Given the description of an element on the screen output the (x, y) to click on. 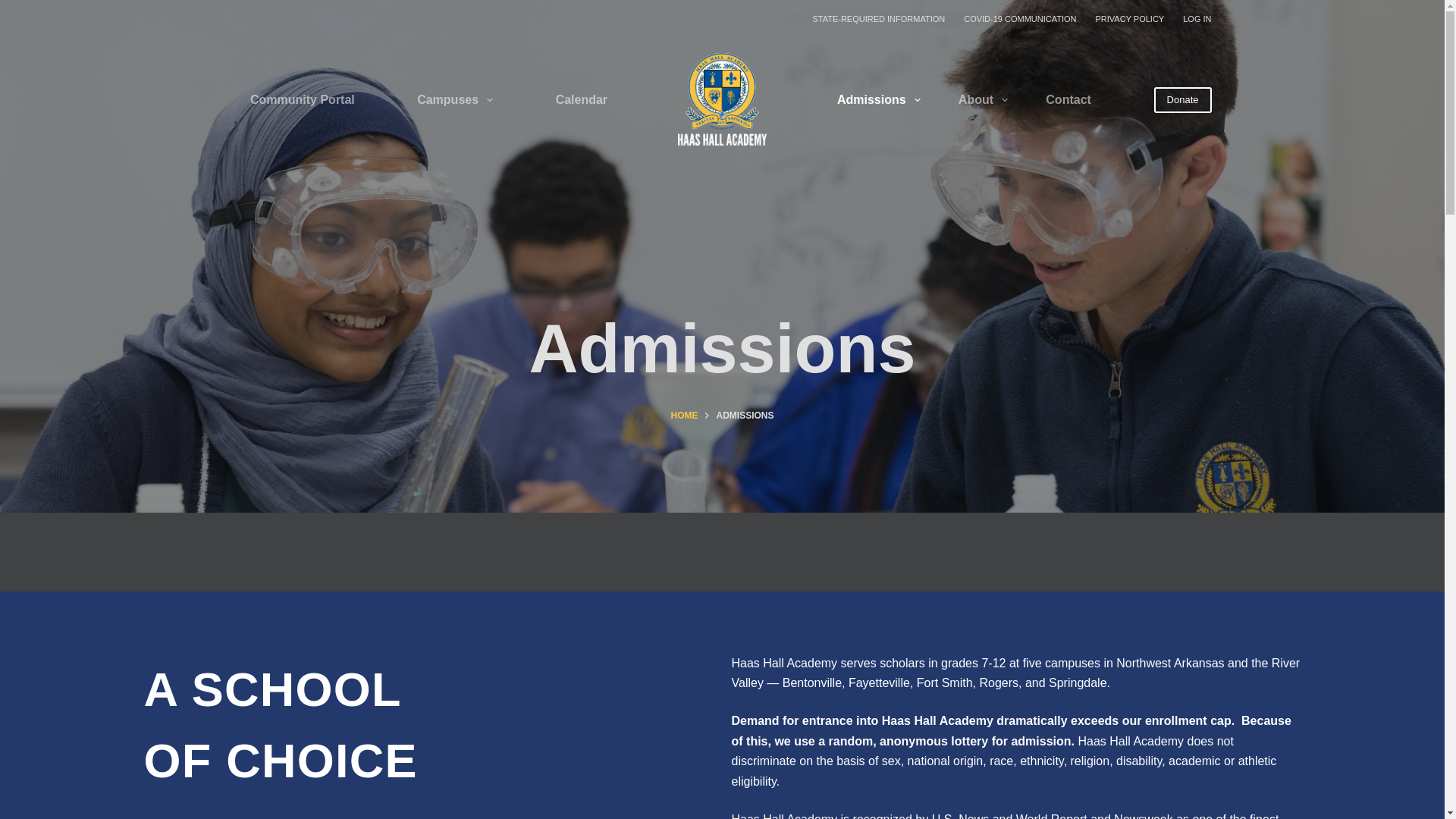
HOME (683, 416)
STATE-REQUIRED INFORMATION (879, 18)
Community Portal (303, 99)
Admissions (722, 348)
Donate (1182, 99)
PRIVACY POLICY (1129, 18)
COVID-19 COMMUNICATION (1020, 18)
Skip to content (15, 7)
LOG IN (1192, 18)
